Given the description of an element on the screen output the (x, y) to click on. 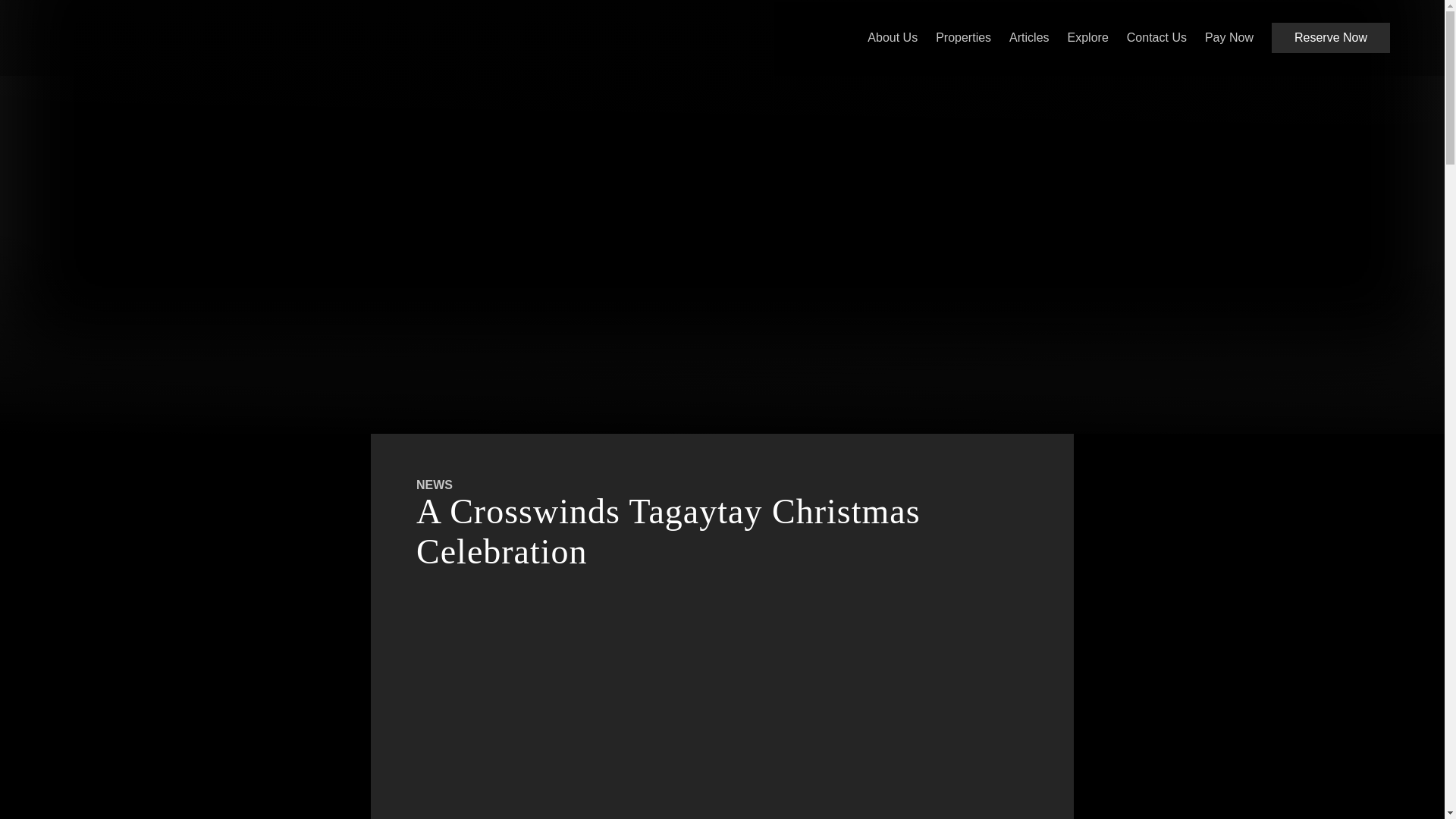
Contact Us (1156, 37)
Reserve Now (1330, 37)
Pay Now (1229, 37)
Articles (1028, 37)
Properties (963, 37)
Explore (1087, 37)
About Us (892, 37)
